Given the description of an element on the screen output the (x, y) to click on. 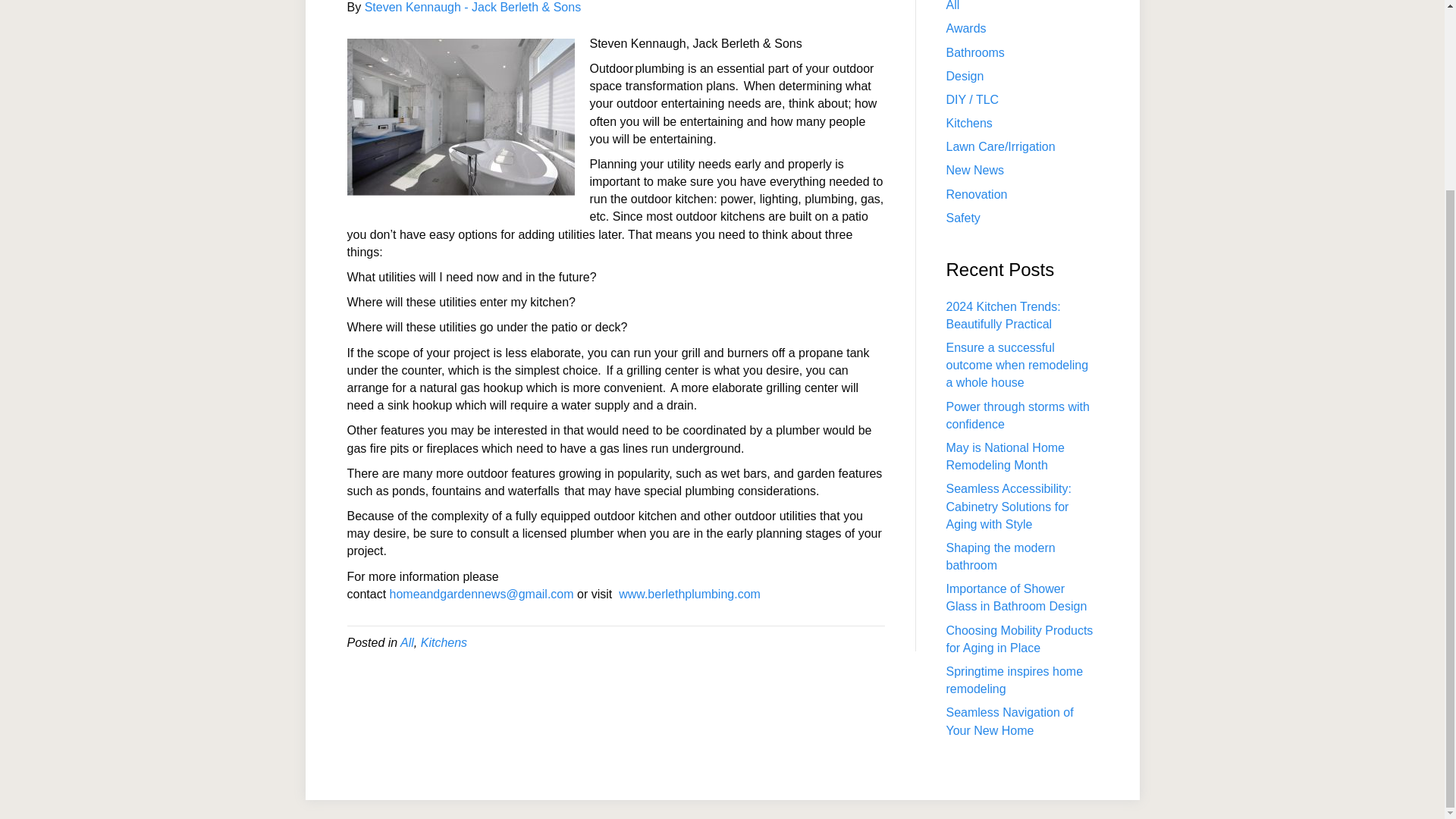
Choosing Mobility Products for Aging in Place (1019, 639)
New News (975, 169)
Springtime inspires home remodeling (1014, 680)
Kitchens (443, 642)
Seamless Navigation of Your New Home (1010, 720)
Kitchens (969, 123)
Bathrooms (975, 51)
All (952, 5)
Safety (962, 217)
Ensure a successful outcome when remodeling a whole house (1017, 365)
Importance of Shower Glass in Bathroom Design (1016, 597)
Power through storms with confidence (1017, 415)
www.berlethplumbing.com (689, 594)
May is National Home Remodeling Month (1005, 456)
